Given the description of an element on the screen output the (x, y) to click on. 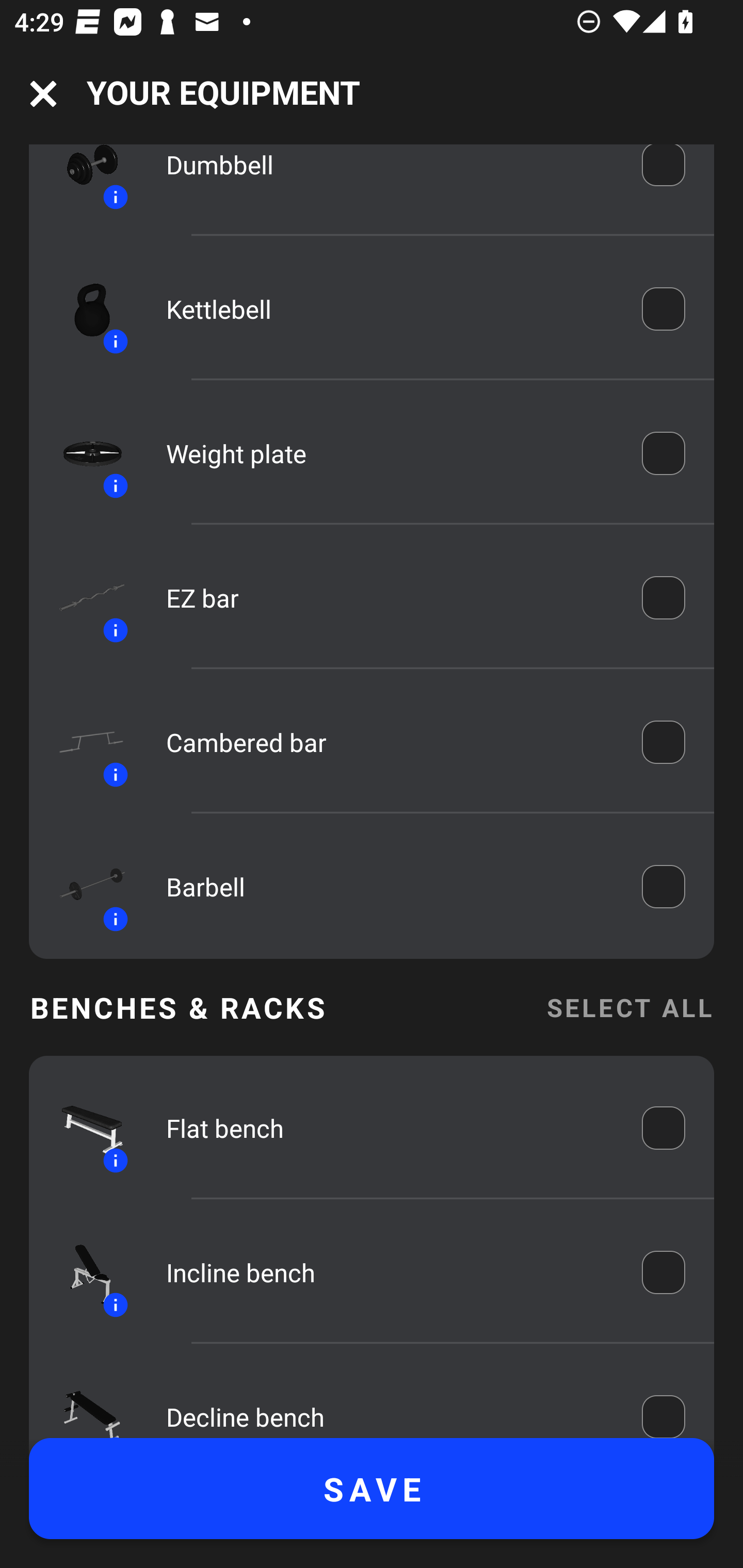
Navigation icon (43, 93)
Equipment icon Information icon (82, 180)
Dumbbell (389, 176)
Equipment icon Information icon (82, 308)
Kettlebell (389, 308)
Equipment icon Information icon (82, 453)
Weight plate (389, 453)
Equipment icon Information icon (82, 598)
EZ bar (389, 598)
Equipment icon Information icon (82, 742)
Cambered bar (389, 742)
Equipment icon Information icon (82, 886)
Barbell (389, 886)
SELECT ALL (629, 1007)
Equipment icon Information icon (82, 1128)
Flat bench (389, 1128)
Equipment icon Information icon (82, 1272)
Incline bench (389, 1272)
Equipment icon Information icon (82, 1399)
Decline bench (389, 1405)
SAVE (371, 1488)
